Given the description of an element on the screen output the (x, y) to click on. 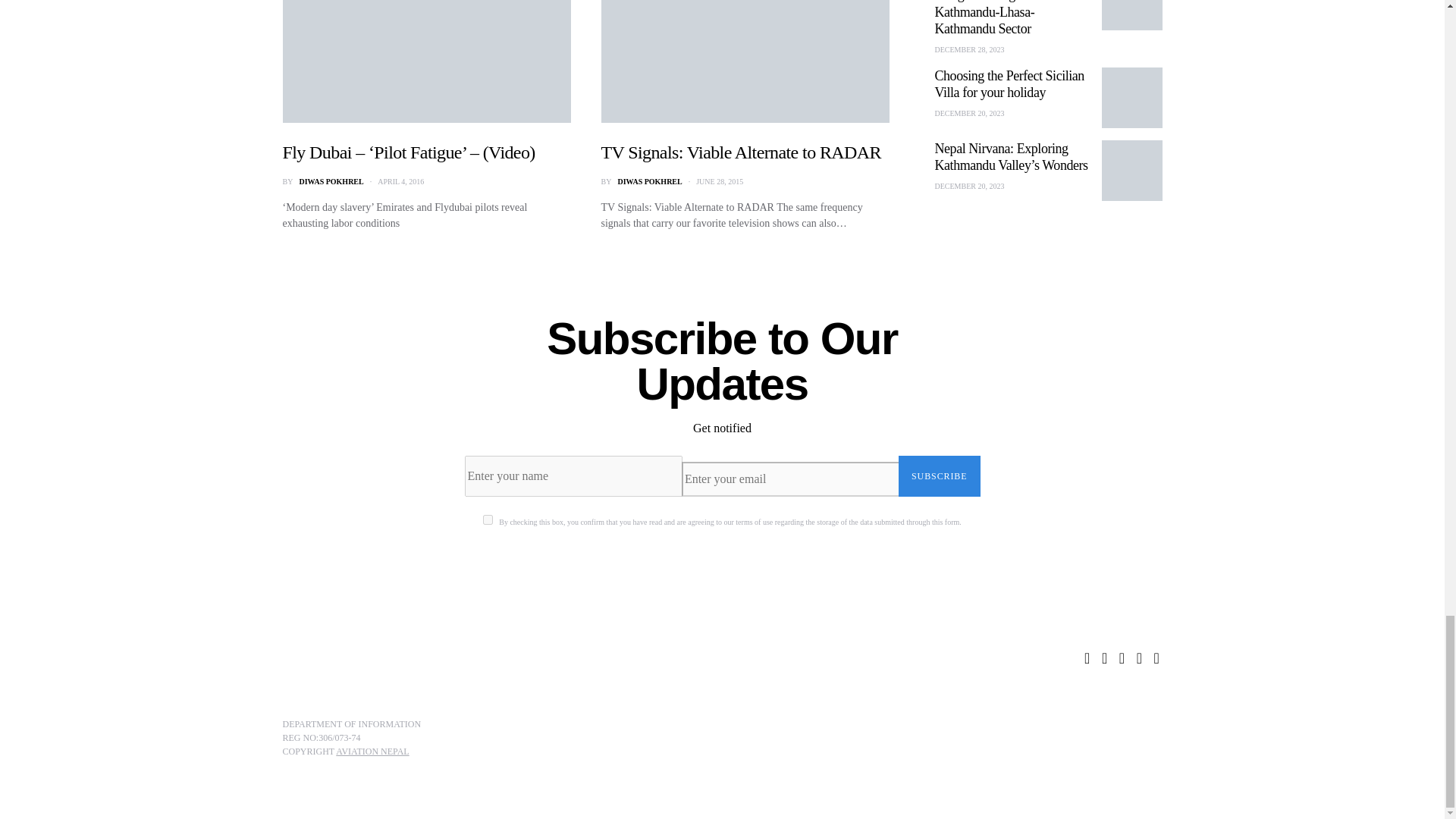
View all posts by Diwas Pokhrel (649, 181)
View all posts by Diwas Pokhrel (330, 181)
on (488, 519)
